Given the description of an element on the screen output the (x, y) to click on. 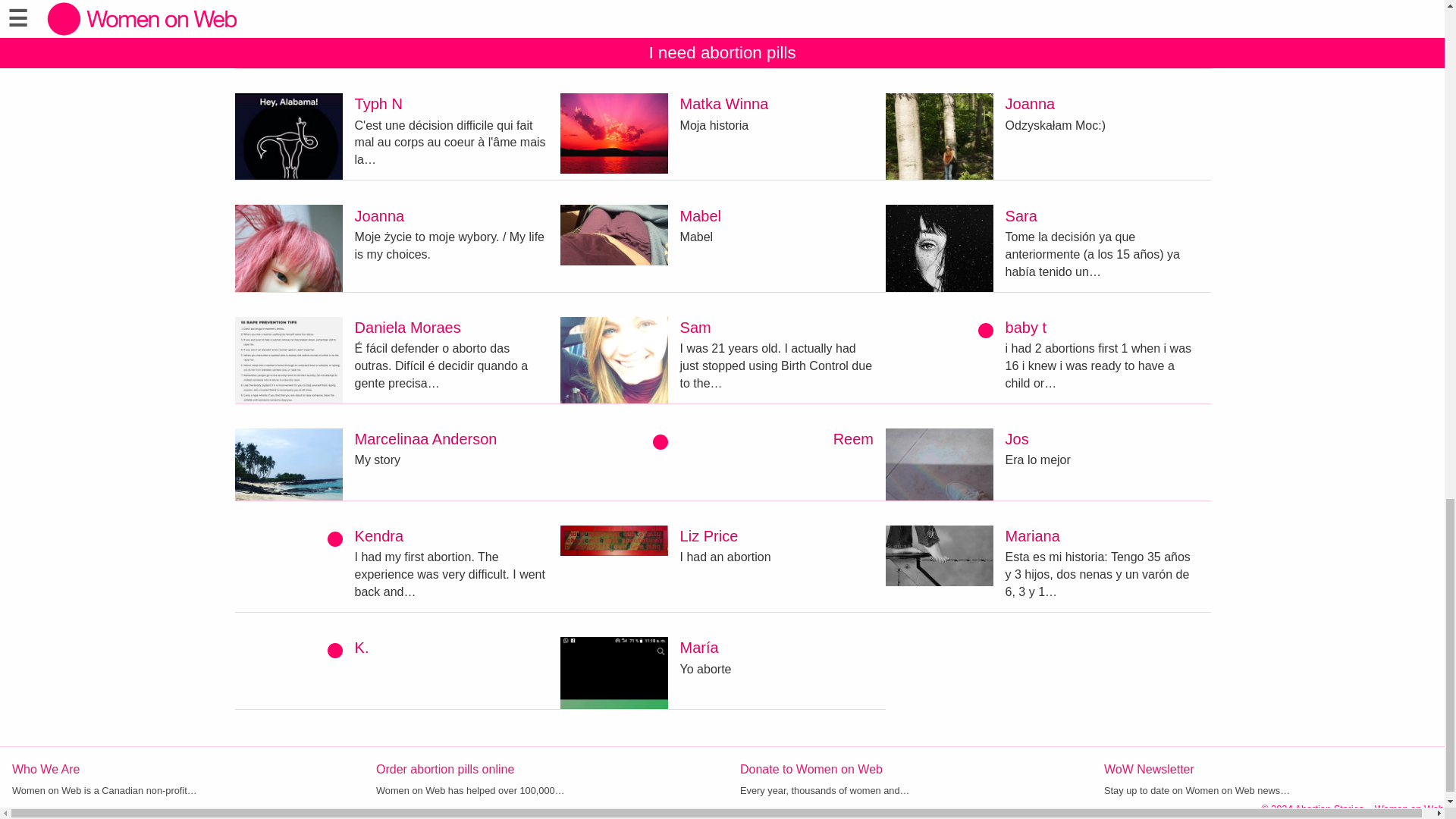
Sara (1021, 216)
Matka Winna (723, 103)
Mabel (699, 216)
baby t (1026, 327)
Daniela Moraes (408, 327)
Leah Frida (715, 0)
Joanna (379, 216)
Typh N (379, 103)
Sam (695, 327)
Joanna (1030, 103)
